Given the description of an element on the screen output the (x, y) to click on. 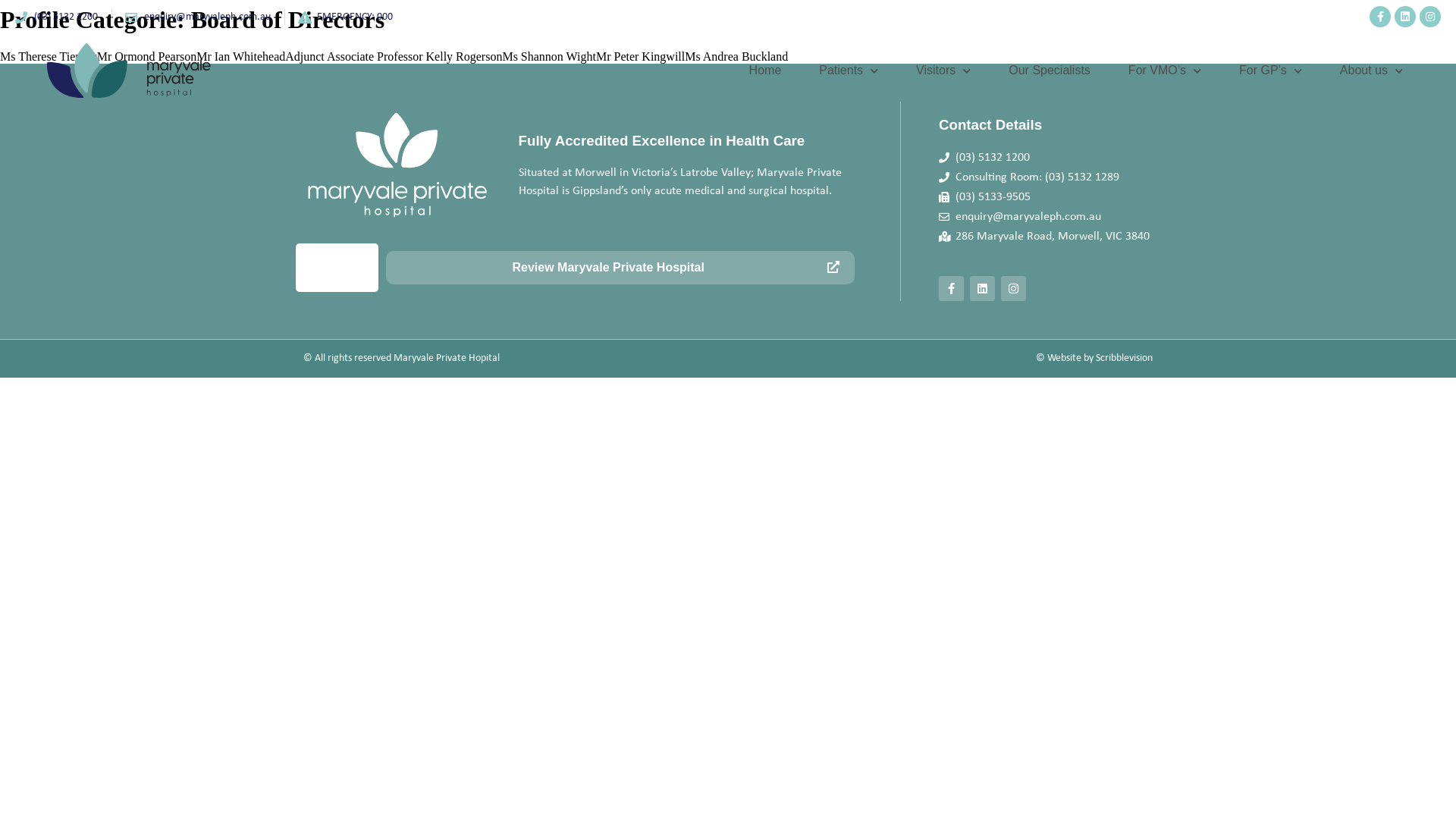
enquiry@maryvaleph.com.au Element type: text (197, 17)
Our Specialists Element type: text (1049, 70)
(03) 5133-9505 Element type: text (1049, 197)
Review Maryvale Private Hospital Element type: text (619, 267)
enquiry@maryvaleph.com.au Element type: text (1049, 216)
Home Element type: text (765, 70)
(03) 5132 1200 Element type: text (1049, 157)
Patients Element type: text (848, 70)
Visitors Element type: text (942, 70)
About us Element type: text (1371, 70)
Consulting Room: (03) 5132 1289 Element type: text (1049, 177)
(03) 5132 1200 Element type: text (56, 17)
